Given the description of an element on the screen output the (x, y) to click on. 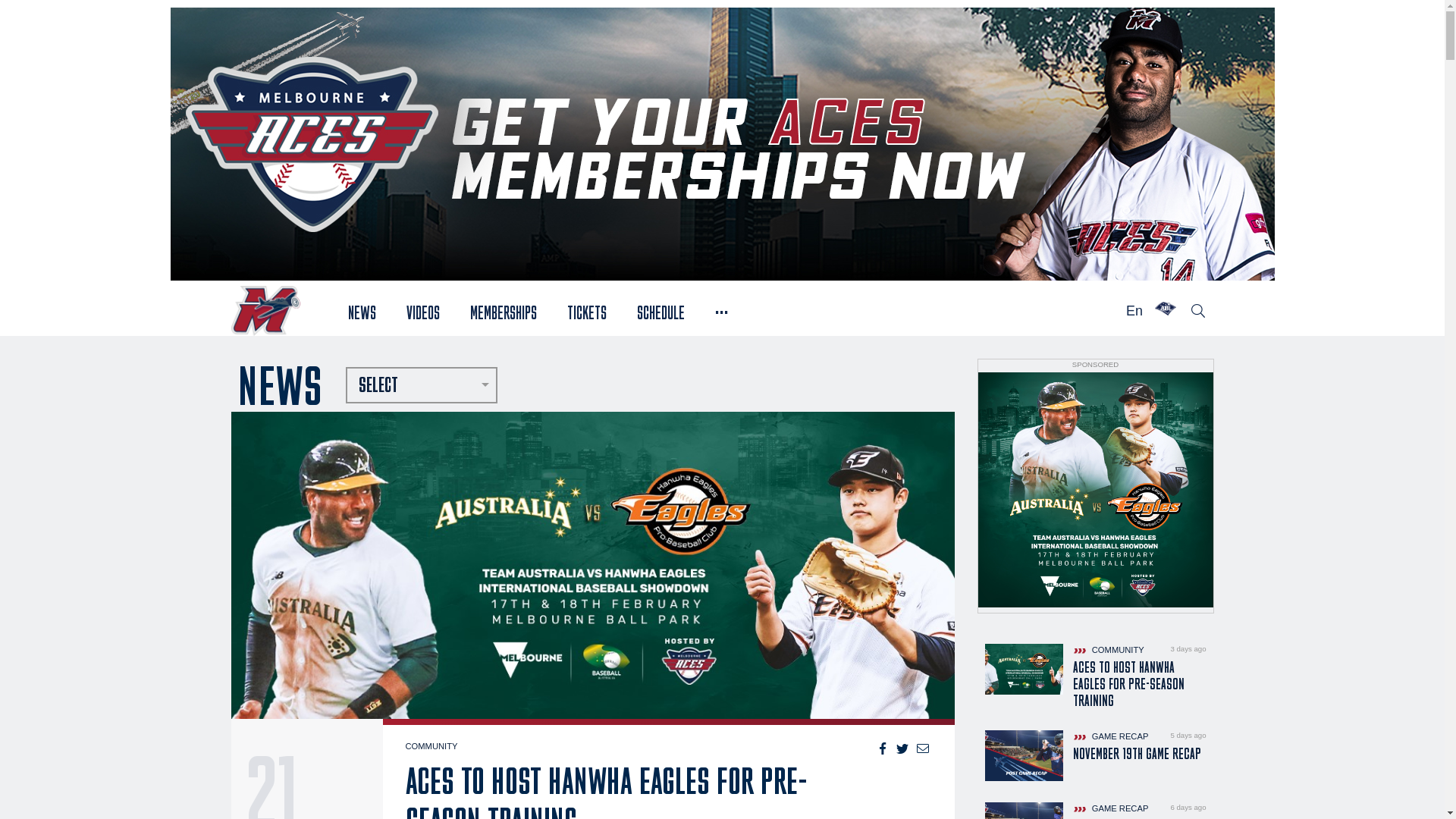
MEMBERSHIPS Element type: text (503, 310)
En Element type: text (1134, 310)
TICKETS Element type: text (586, 310)
GAME RECAP Element type: text (1110, 735)
VIDEOS Element type: text (423, 310)
COMMUNITY Element type: text (430, 745)
GAME RECAP Element type: text (1110, 807)
NEWS Element type: text (361, 310)
SCHEDULE Element type: text (660, 310)
COMMUNITY Element type: text (1107, 649)
GAME RECAP
5 days ago
NOVEMBER 19TH GAME RECAP Element type: text (1094, 755)
... Element type: text (721, 310)
